Given the description of an element on the screen output the (x, y) to click on. 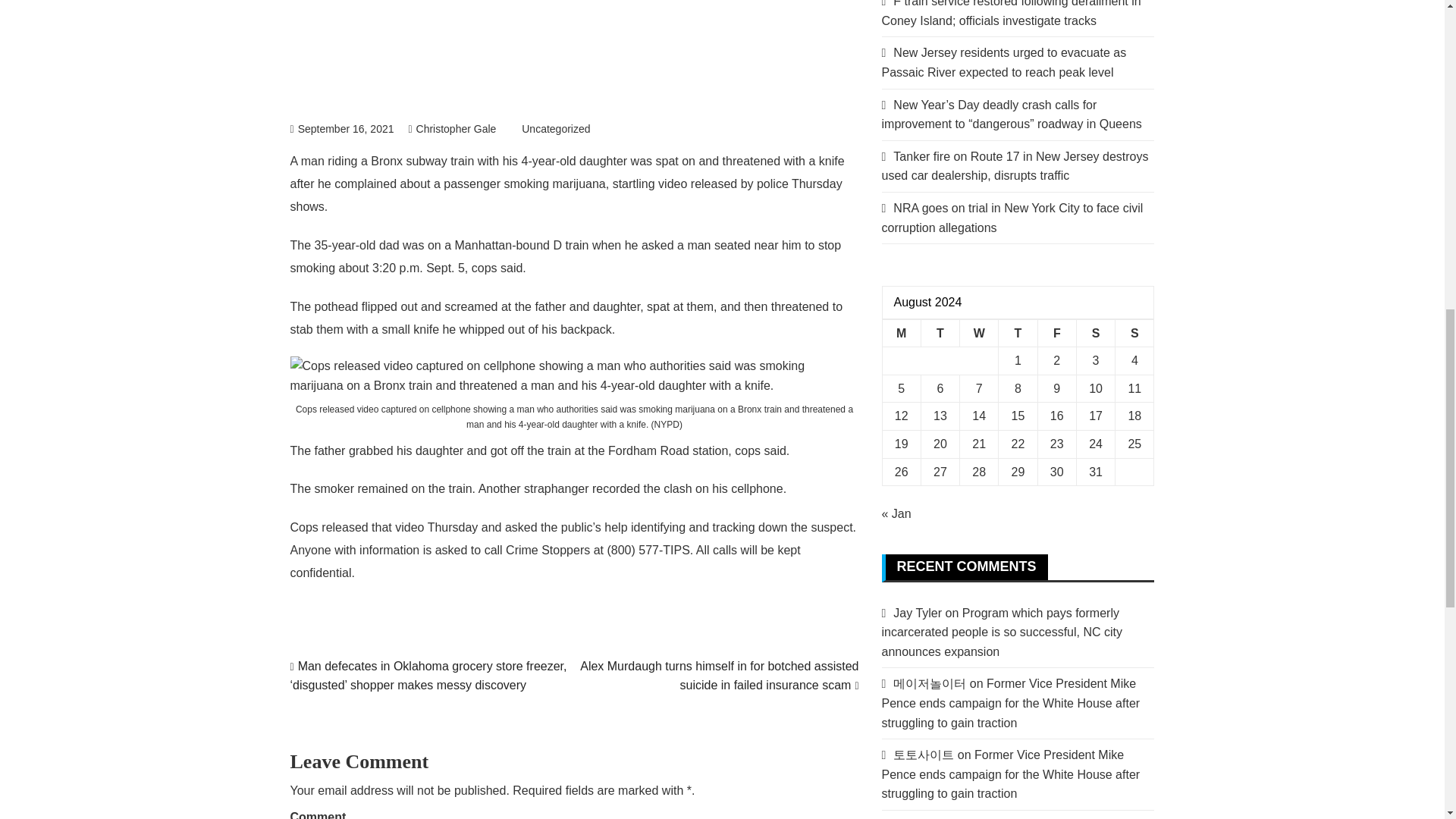
Wednesday (978, 333)
Friday (1055, 333)
Sunday (1134, 333)
Jay Tyler (917, 612)
Tuesday (939, 333)
Saturday (1095, 333)
September 16, 2021 (341, 128)
